Given the description of an element on the screen output the (x, y) to click on. 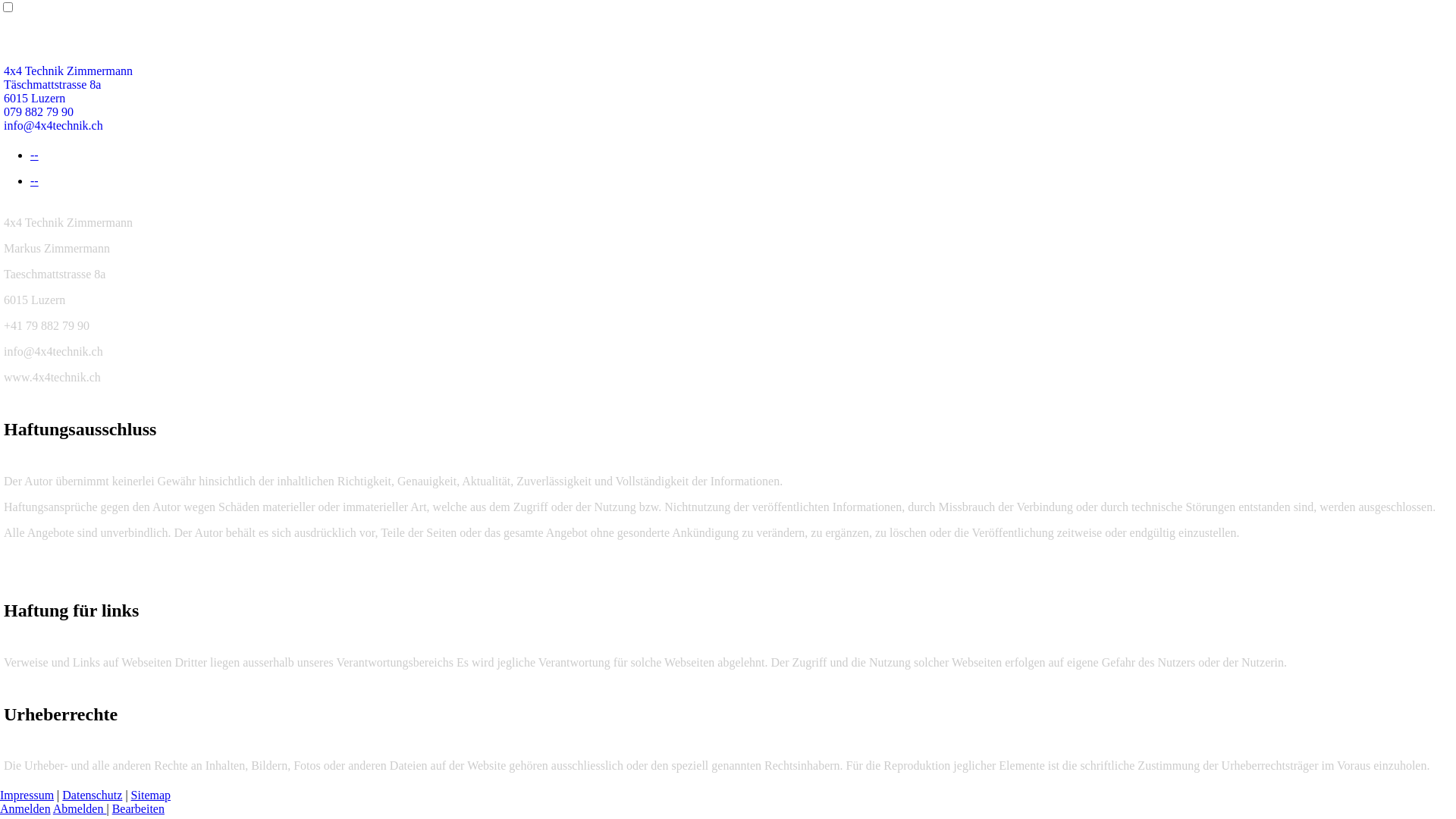
Abmelden Element type: text (79, 808)
Datenschutz Element type: text (92, 794)
Sitemap Element type: text (150, 794)
Impressum Element type: text (26, 794)
-- Element type: text (34, 154)
Anmelden Element type: text (25, 808)
Bearbeiten Element type: text (138, 808)
-- Element type: text (34, 180)
